Given the description of an element on the screen output the (x, y) to click on. 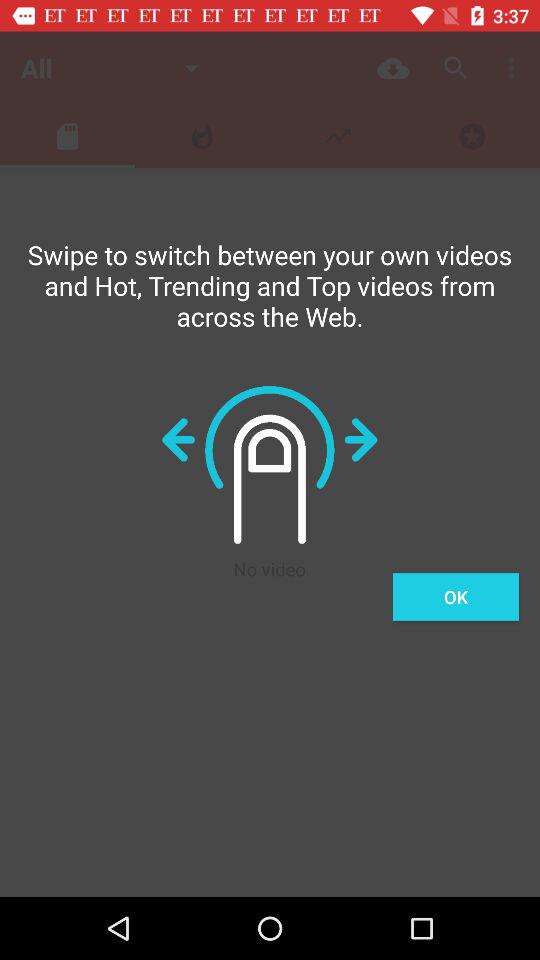
open the ok item (456, 596)
